Given the description of an element on the screen output the (x, y) to click on. 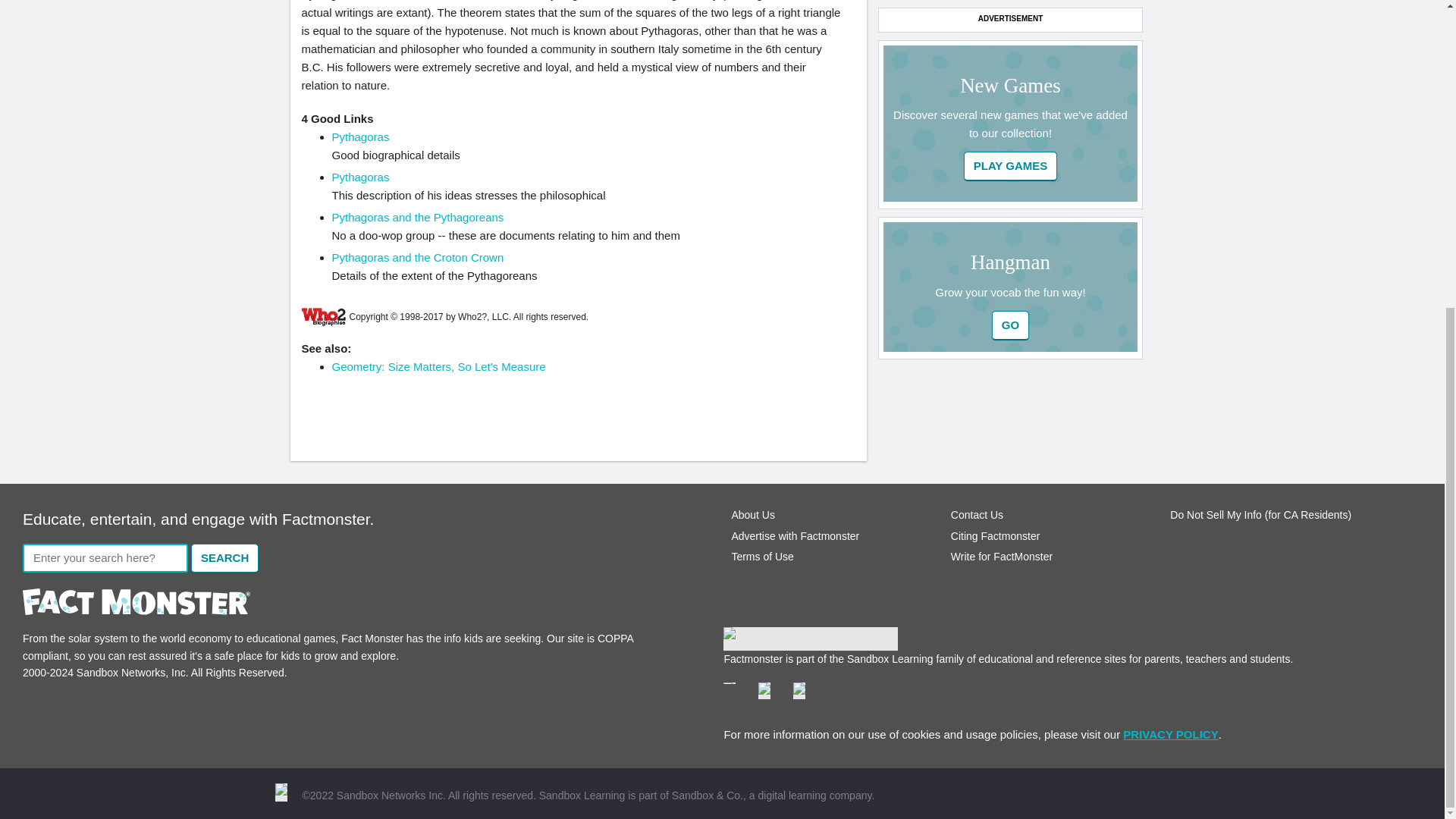
Go (1010, 165)
Go (1010, 325)
Go (1010, 325)
Search (224, 558)
Play Games (1010, 165)
About Us (752, 514)
